Given the description of an element on the screen output the (x, y) to click on. 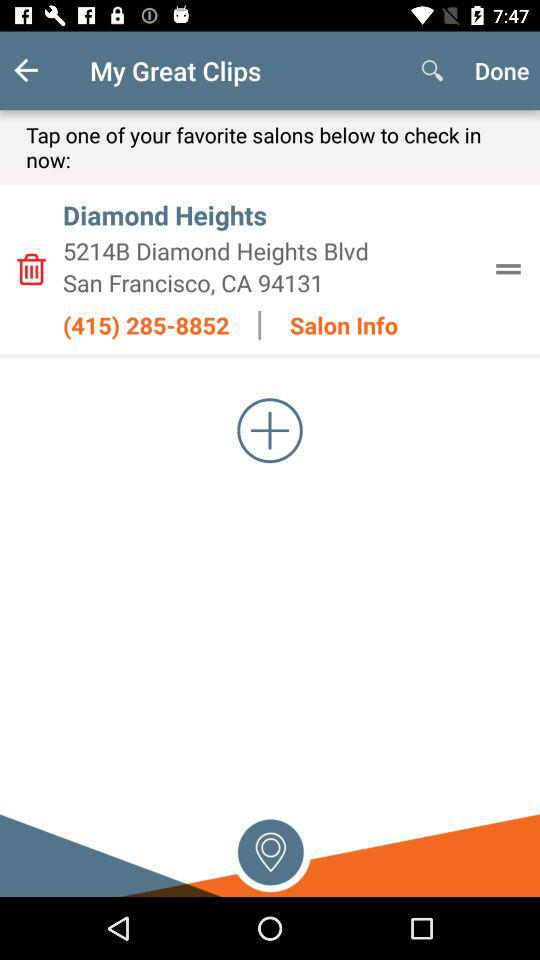
press item next to done item (432, 70)
